Given the description of an element on the screen output the (x, y) to click on. 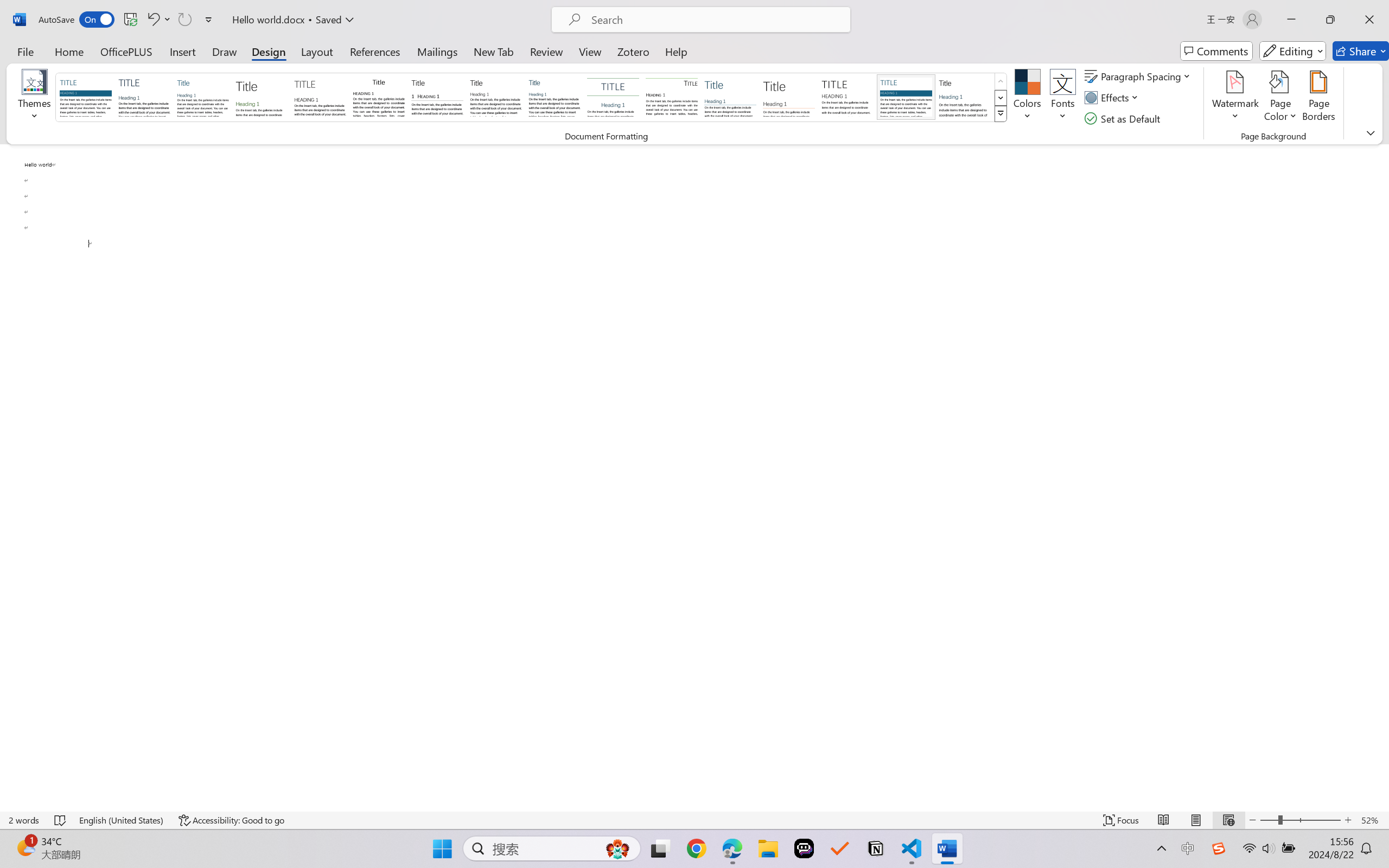
Fonts (1062, 97)
Quick Access Toolbar (127, 19)
Print Layout (1196, 819)
Web Layout (1228, 819)
Zoom Out (1268, 819)
Lines (Stylish) (788, 96)
Class: MsoCommandBar (694, 819)
Minimize (1291, 19)
Home (69, 51)
Insert (182, 51)
Class: NetUIScrollBar (1382, 477)
Layout (316, 51)
Black & White (Word 2013) (495, 96)
Row up (1000, 81)
